Given the description of an element on the screen output the (x, y) to click on. 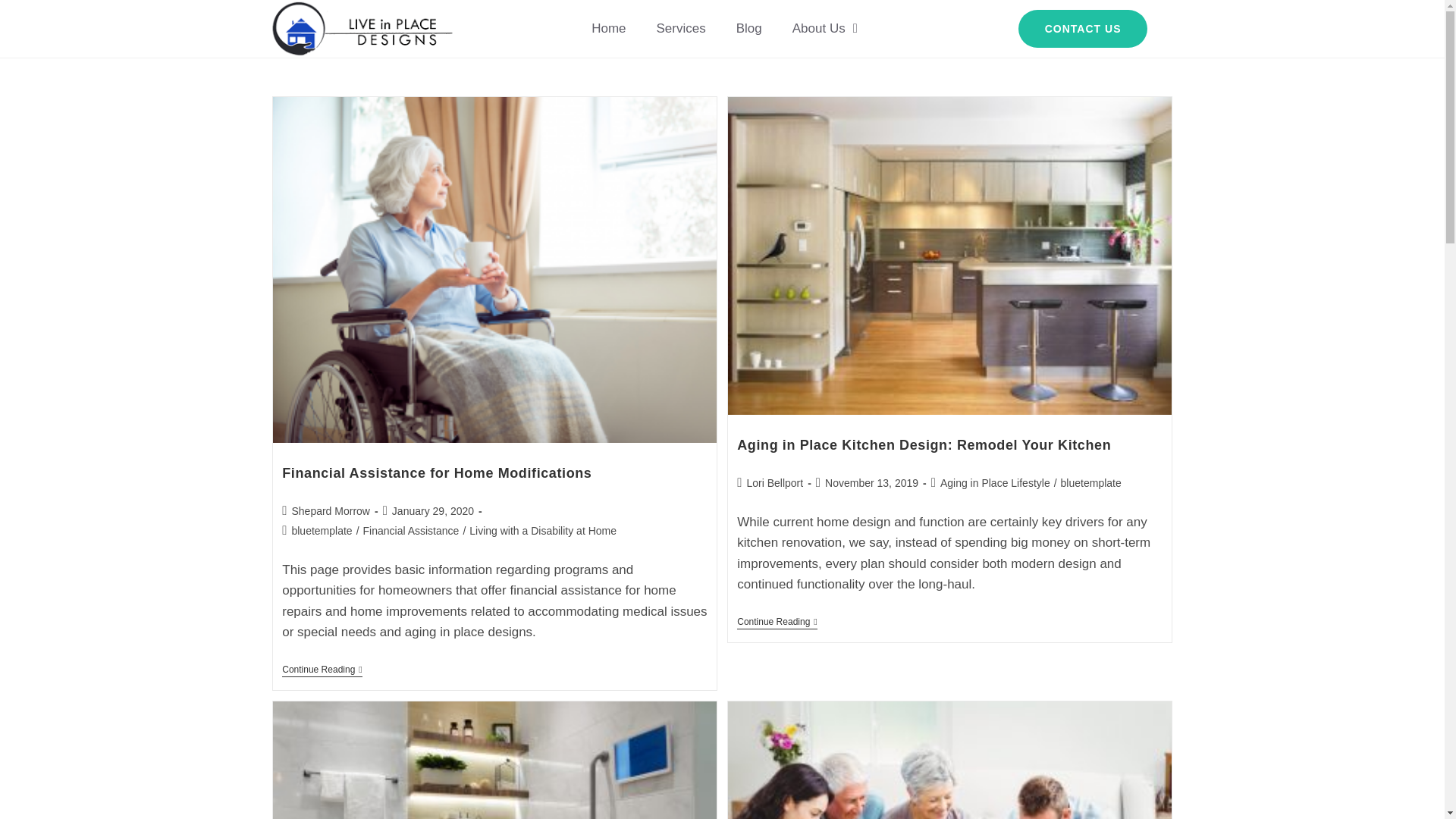
Posts by Shepard Morrow (330, 510)
Aging in Place Kitchen Design: Remodel Your Kitchen (923, 444)
Living with a Disability at Home (541, 530)
Financial Assistance (411, 530)
Aging in Place Lifestyle (994, 482)
Home (608, 28)
Posts by Lori Bellport (774, 482)
Shepard Morrow (330, 510)
bluetemplate (321, 530)
Continue Reading (776, 622)
About Us (824, 28)
CONTACT US (1082, 28)
Services (681, 28)
Lori Bellport (774, 482)
bluetemplate (1091, 482)
